Given the description of an element on the screen output the (x, y) to click on. 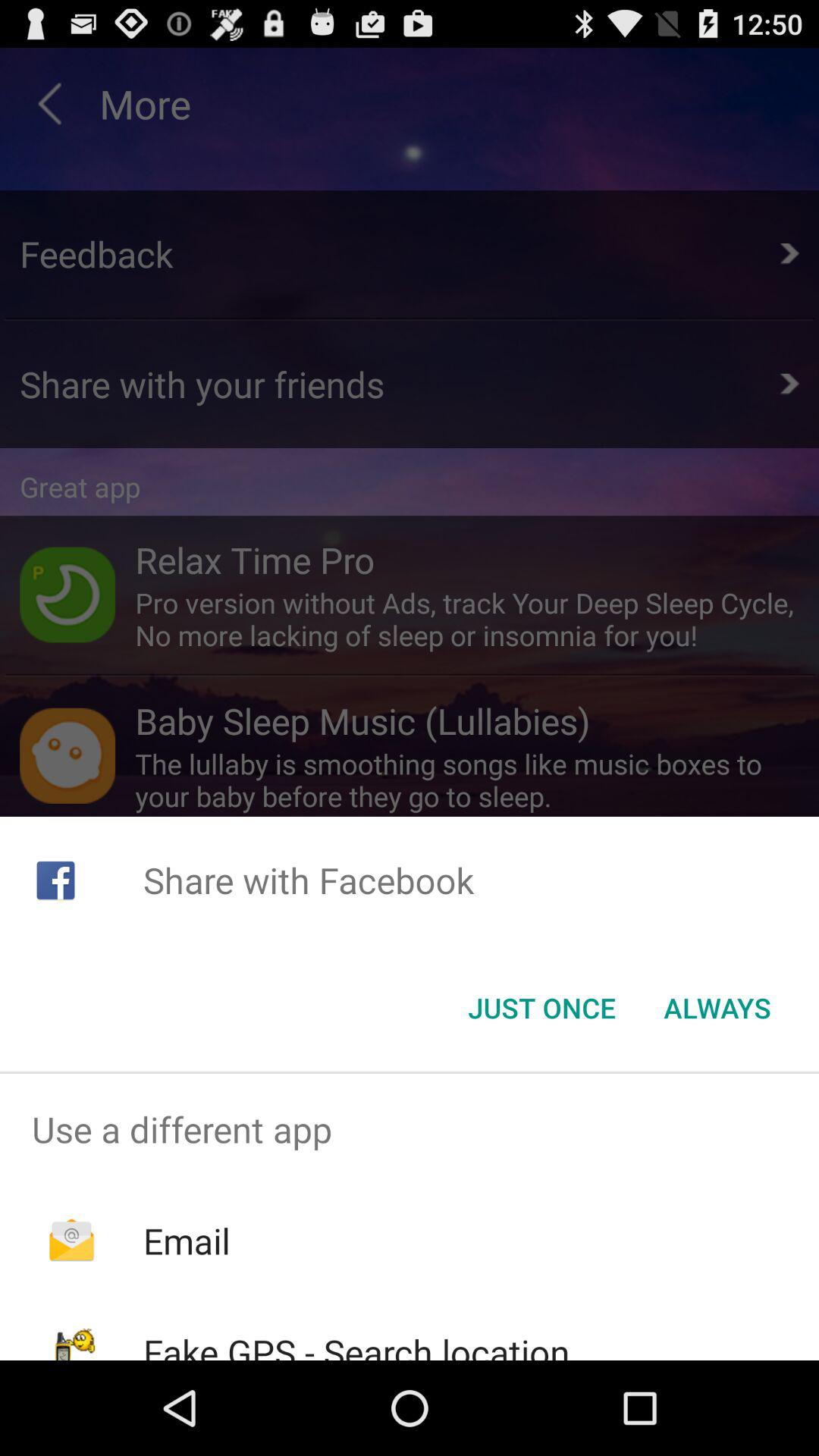
scroll to the just once item (541, 1007)
